Given the description of an element on the screen output the (x, y) to click on. 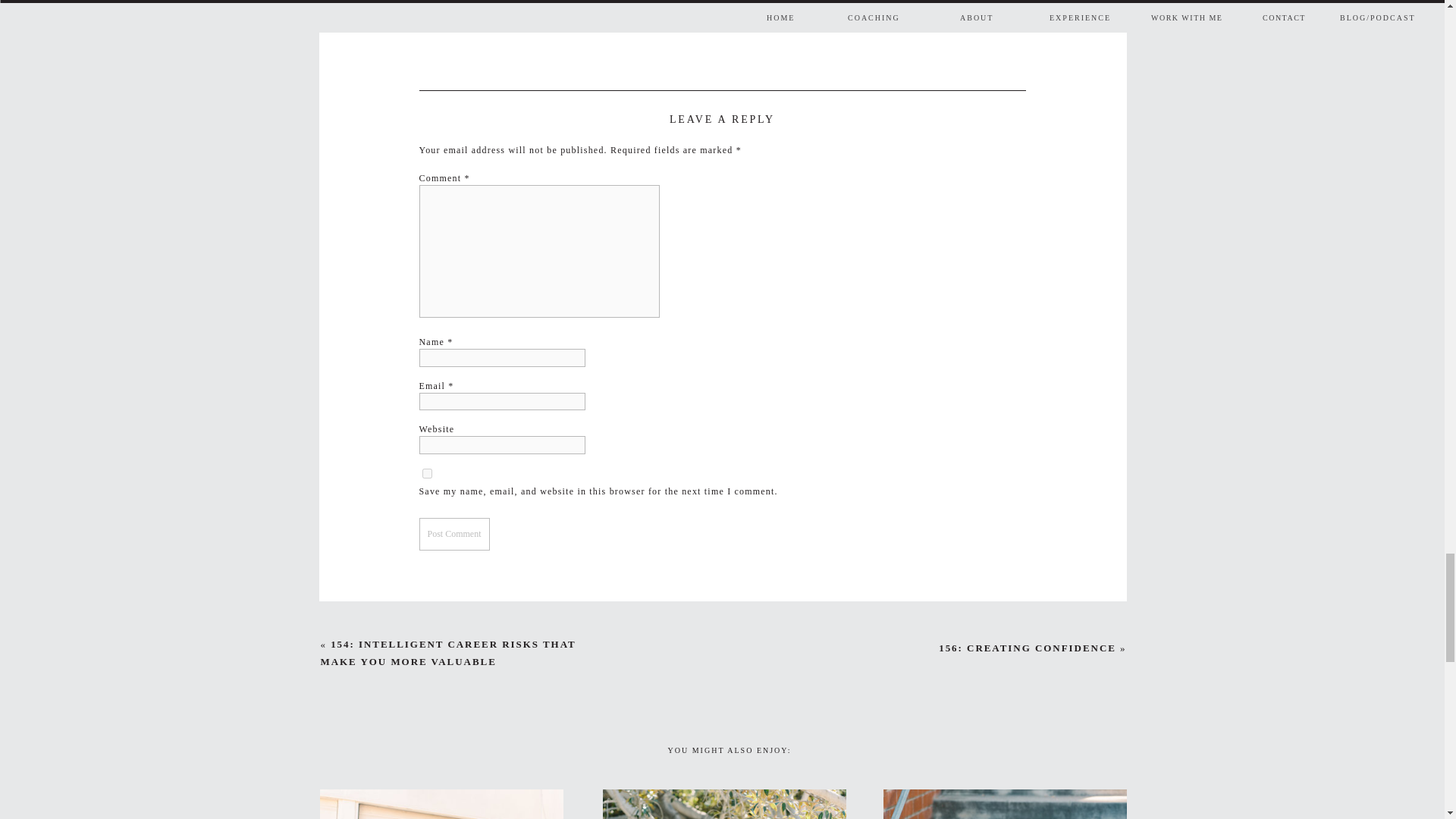
Post Comment (454, 533)
154: INTELLIGENT CAREER RISKS THAT MAKE YOU MORE VALUABLE (447, 652)
156: CREATING CONFIDENCE (1027, 647)
yes (426, 473)
Post Comment (454, 533)
